Given the description of an element on the screen output the (x, y) to click on. 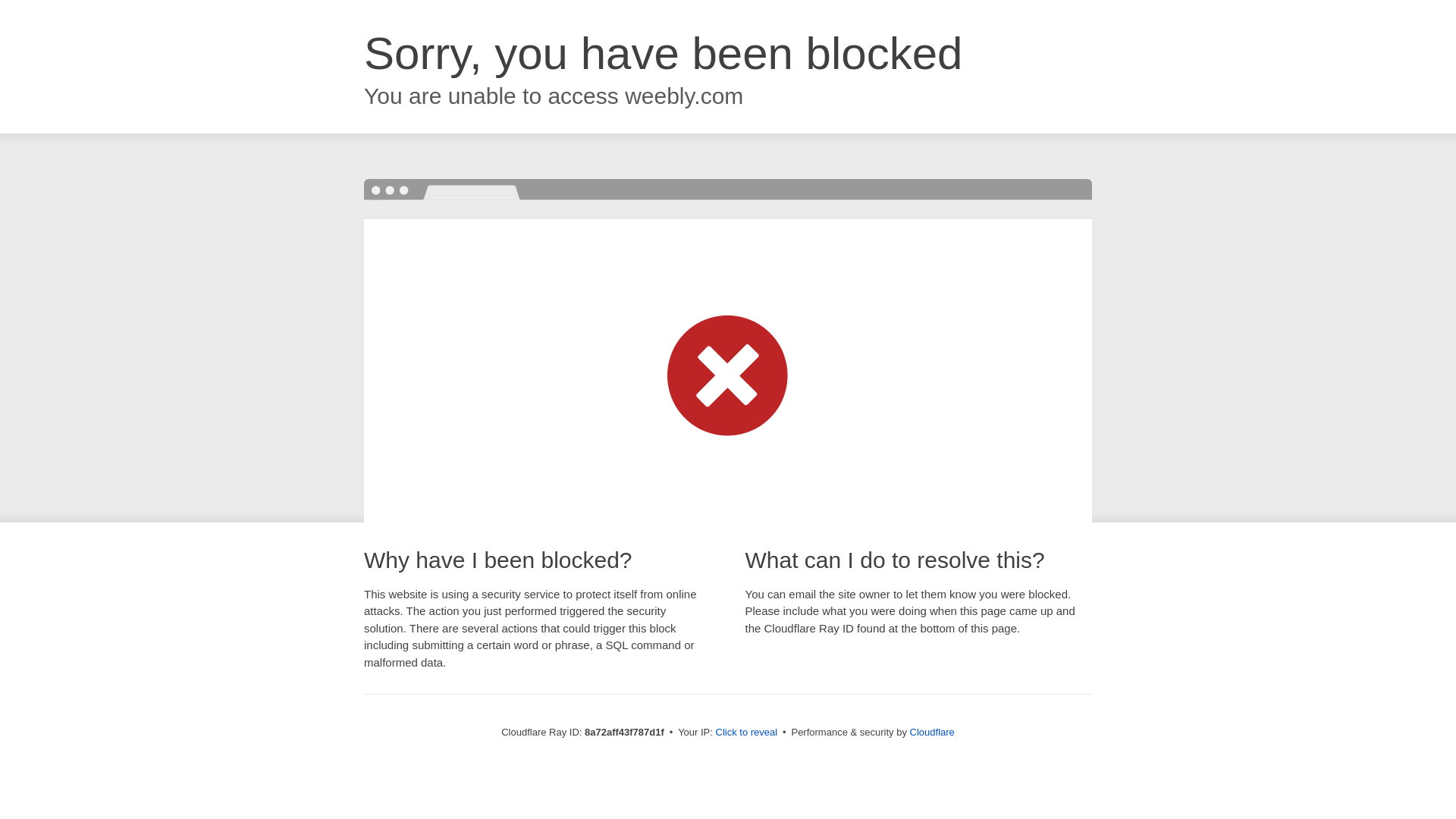
Click to reveal (746, 732)
Cloudflare (932, 731)
